Given the description of an element on the screen output the (x, y) to click on. 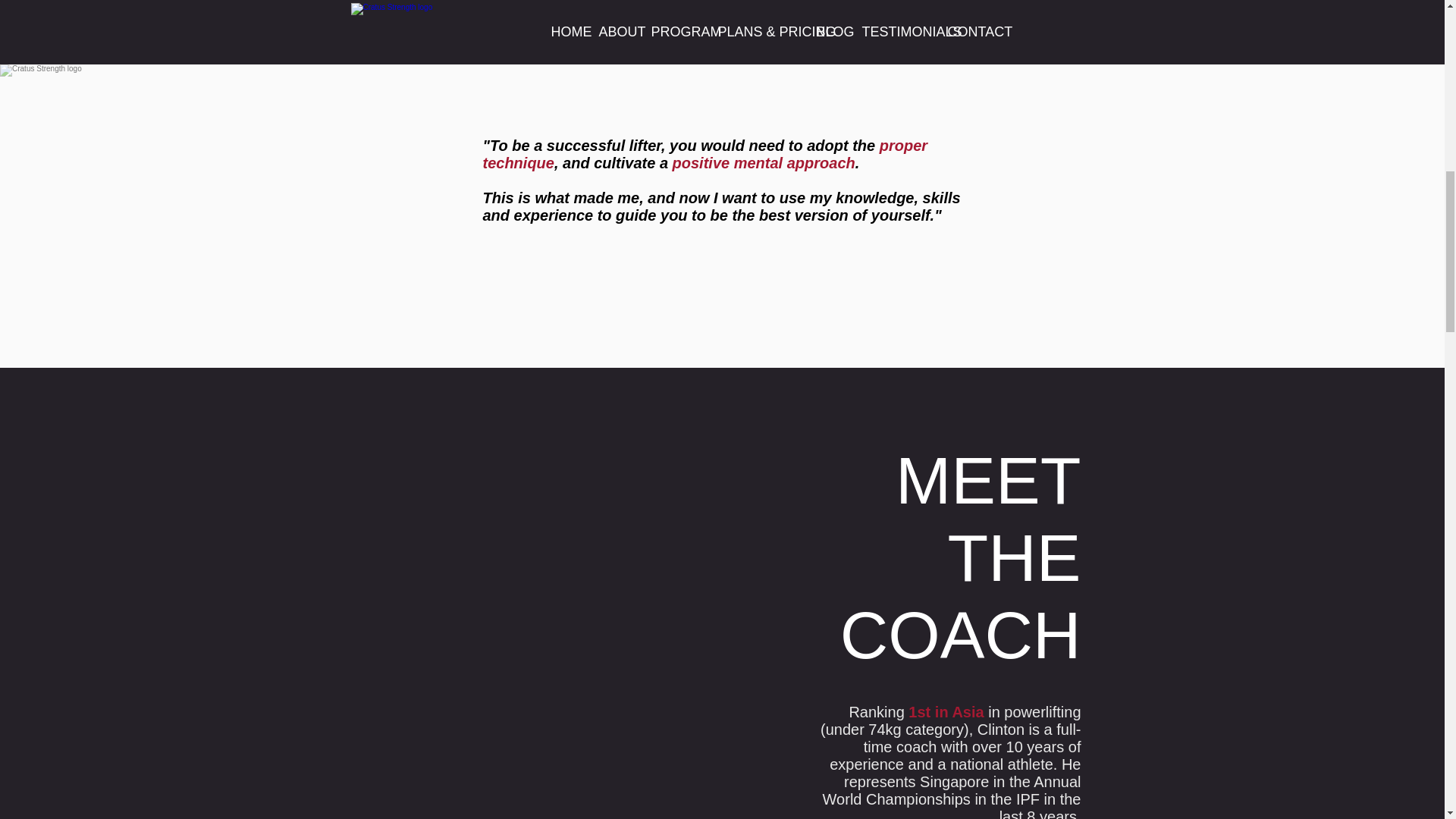
positive mental approach (764, 162)
, and cultivate a (613, 162)
proper technique (704, 154)
"To be a successful lifter, you would need to adopt the (680, 145)
